Given the description of an element on the screen output the (x, y) to click on. 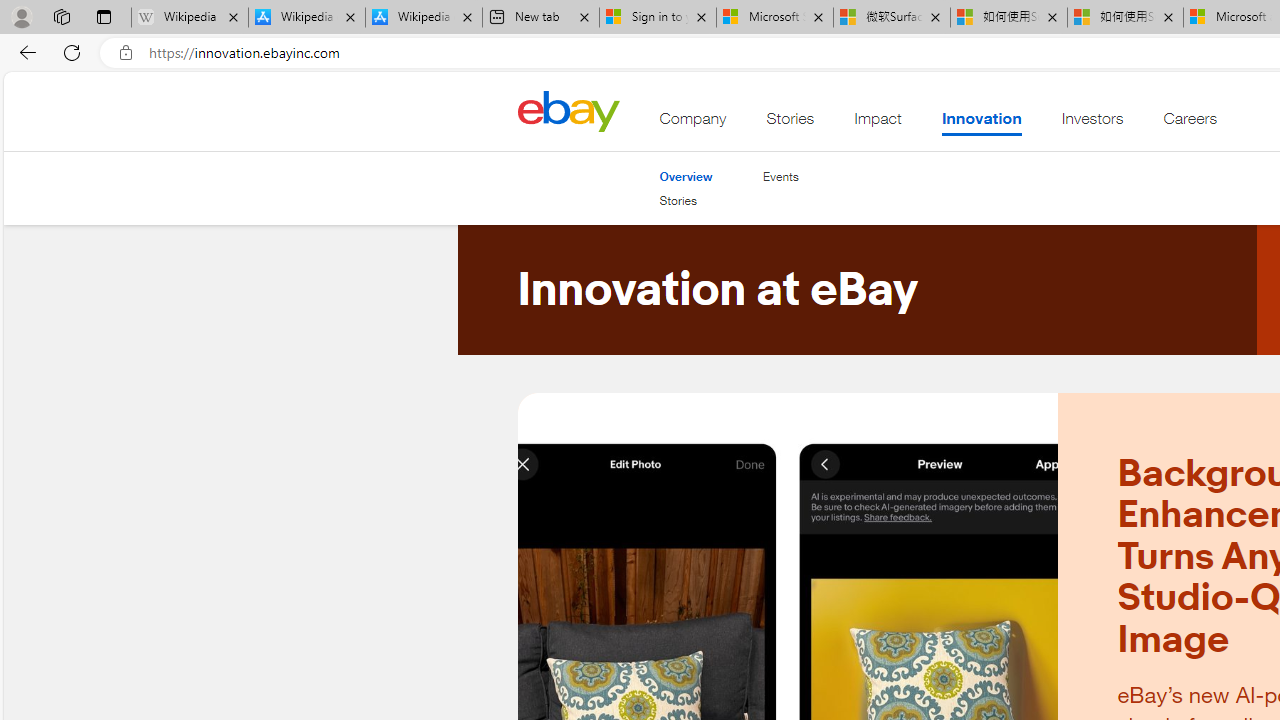
Overview (685, 176)
Sign in to your Microsoft account (657, 17)
Events (779, 176)
Investors (1092, 123)
Careers (1190, 123)
Careers (1190, 123)
Innovation (980, 123)
Impact (877, 123)
Innovation (980, 123)
Overview (685, 176)
Company (693, 123)
